Given the description of an element on the screen output the (x, y) to click on. 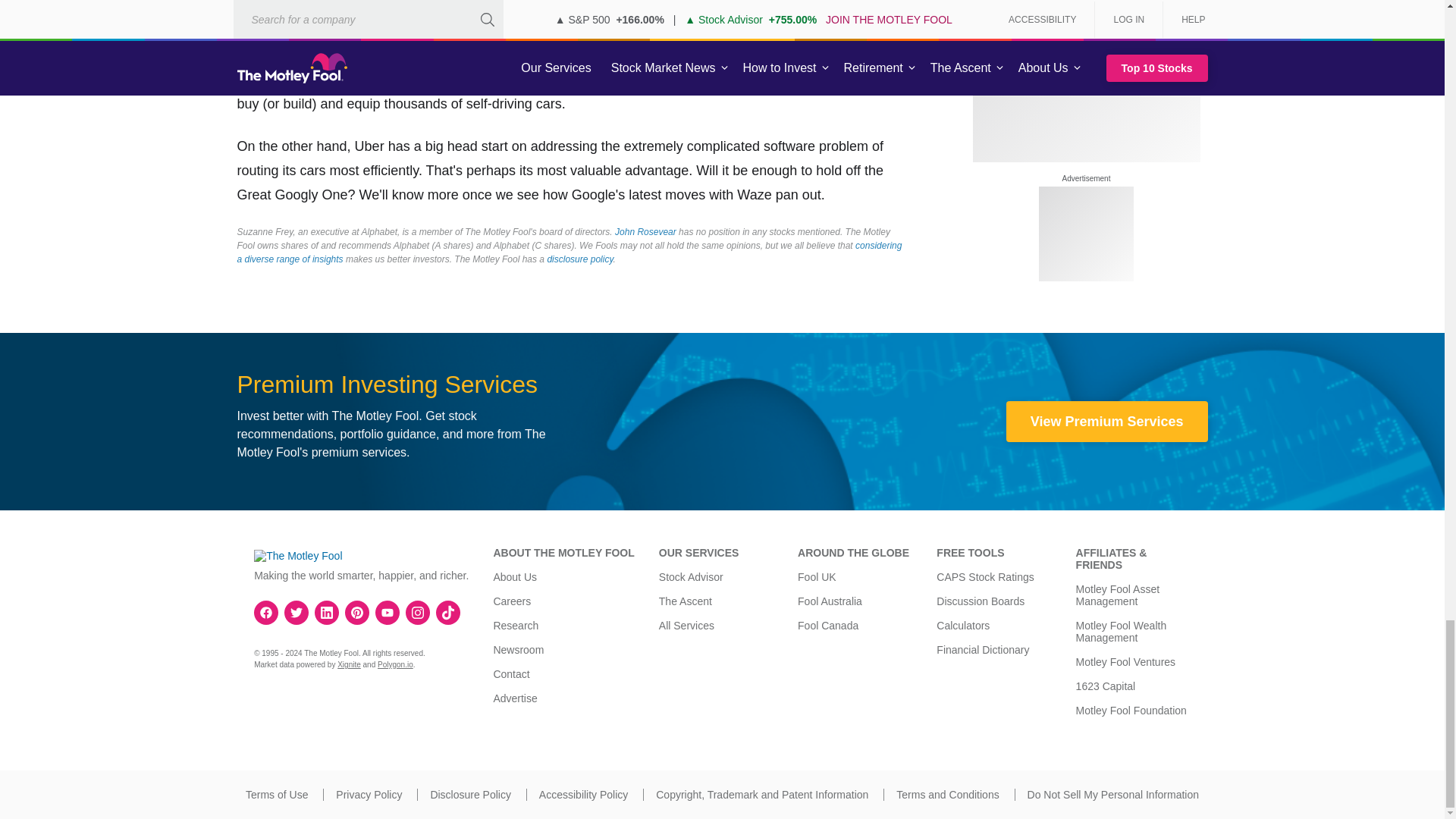
Privacy Policy (368, 794)
Do Not Sell My Personal Information. (1112, 794)
Terms of Use (276, 794)
Disclosure Policy (470, 794)
Terms and Conditions (947, 794)
Accessibility Policy (582, 794)
Copyright, Trademark and Patent Information (761, 794)
